Given the description of an element on the screen output the (x, y) to click on. 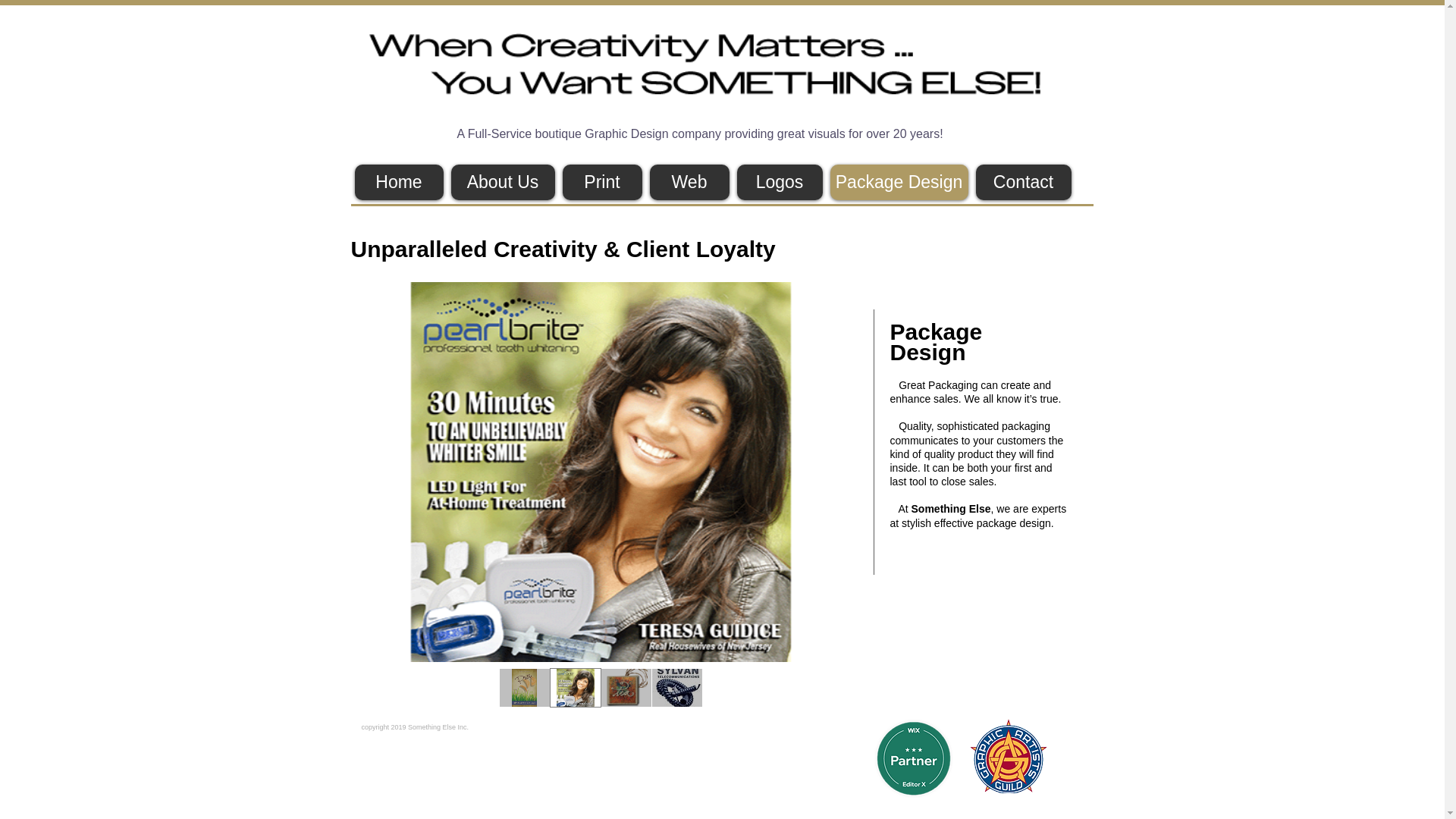
Package Design (898, 181)
Contact (1022, 181)
Print (602, 181)
Logos (779, 181)
Web (689, 181)
About Us (501, 181)
Home (399, 181)
